Given the description of an element on the screen output the (x, y) to click on. 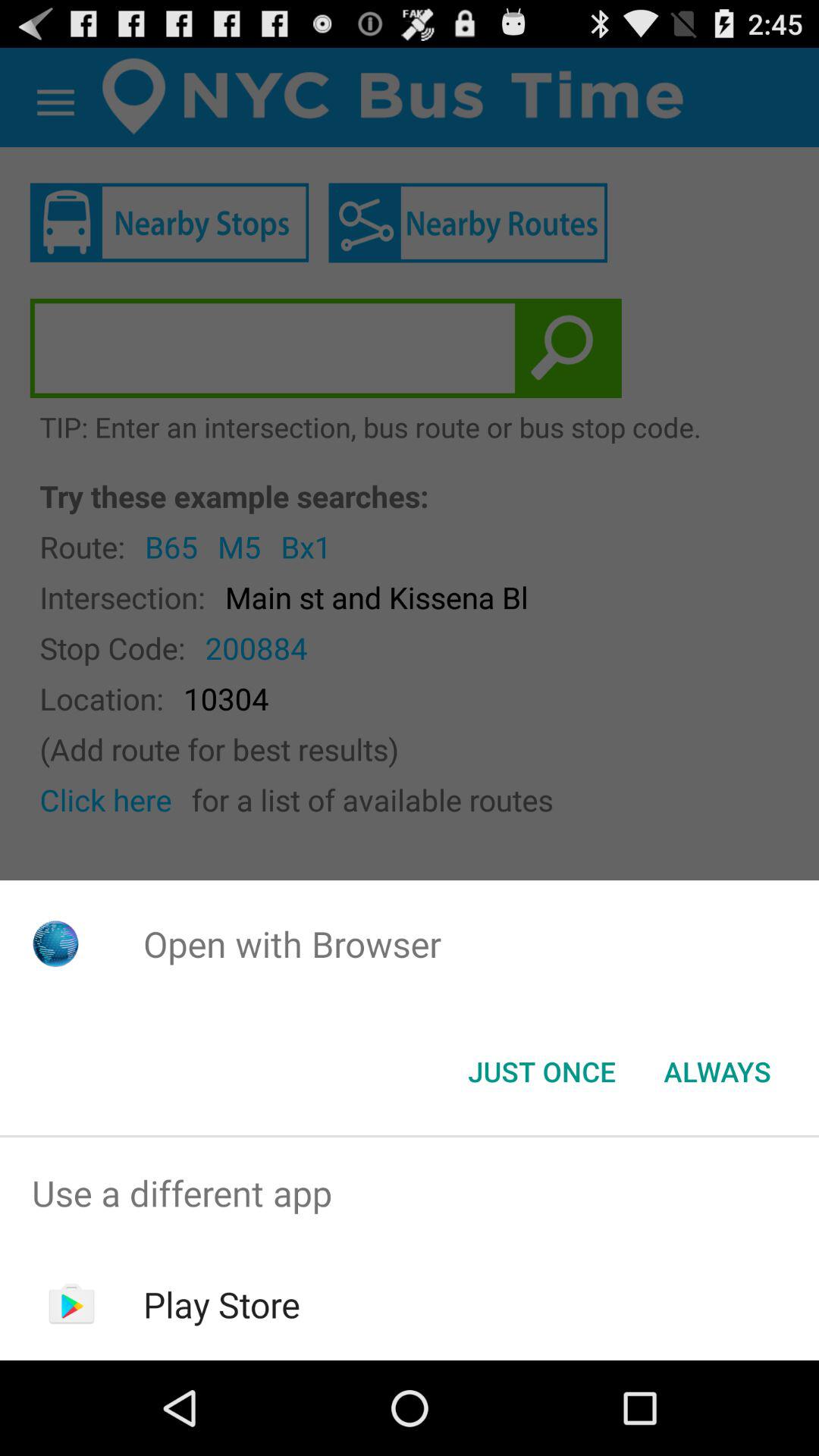
choose the icon to the left of always item (541, 1071)
